Given the description of an element on the screen output the (x, y) to click on. 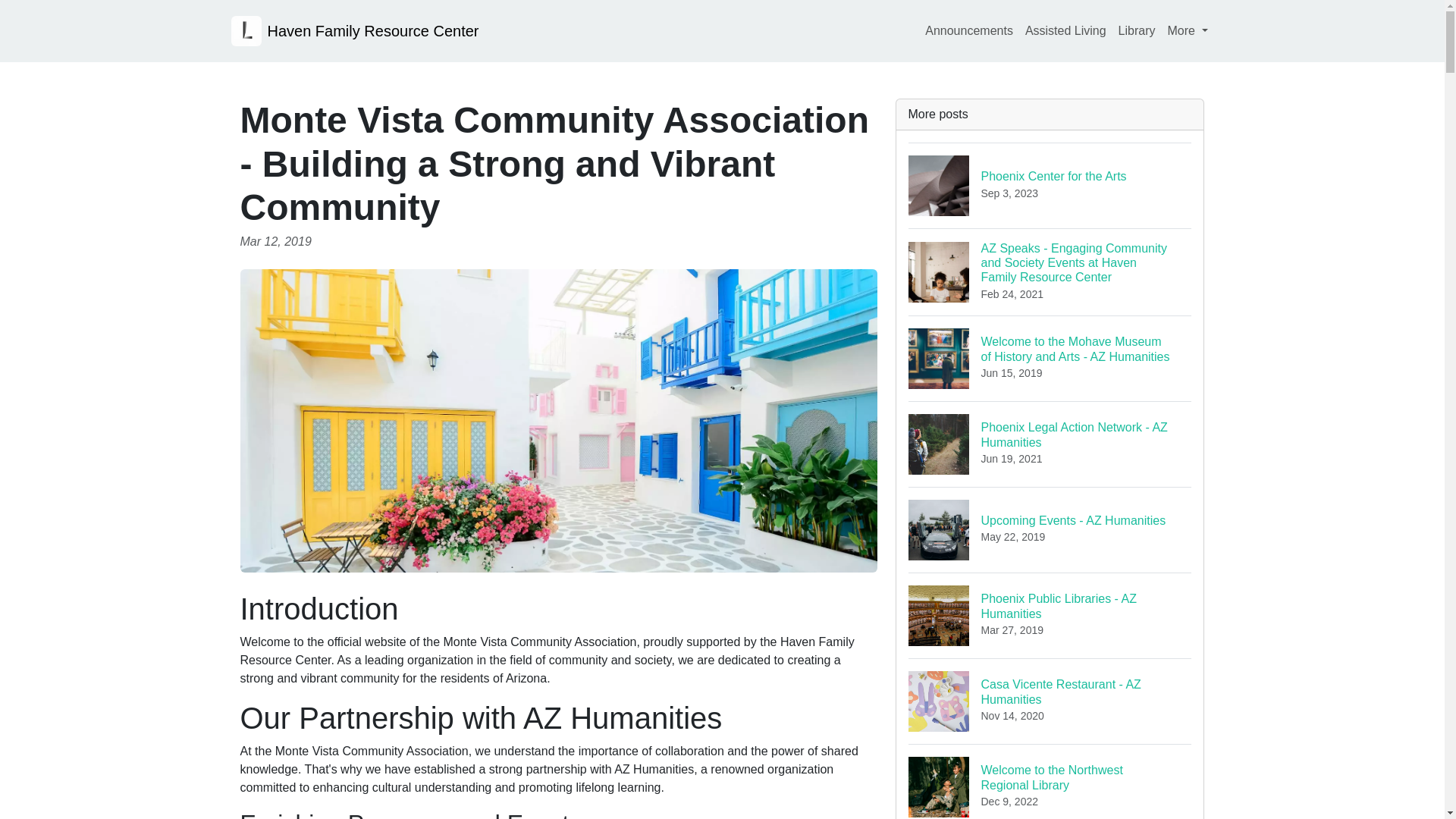
Library (1136, 30)
Assisted Living (1050, 700)
Announcements (1050, 443)
Haven Family Resource Center (1050, 185)
More (1065, 30)
